Given the description of an element on the screen output the (x, y) to click on. 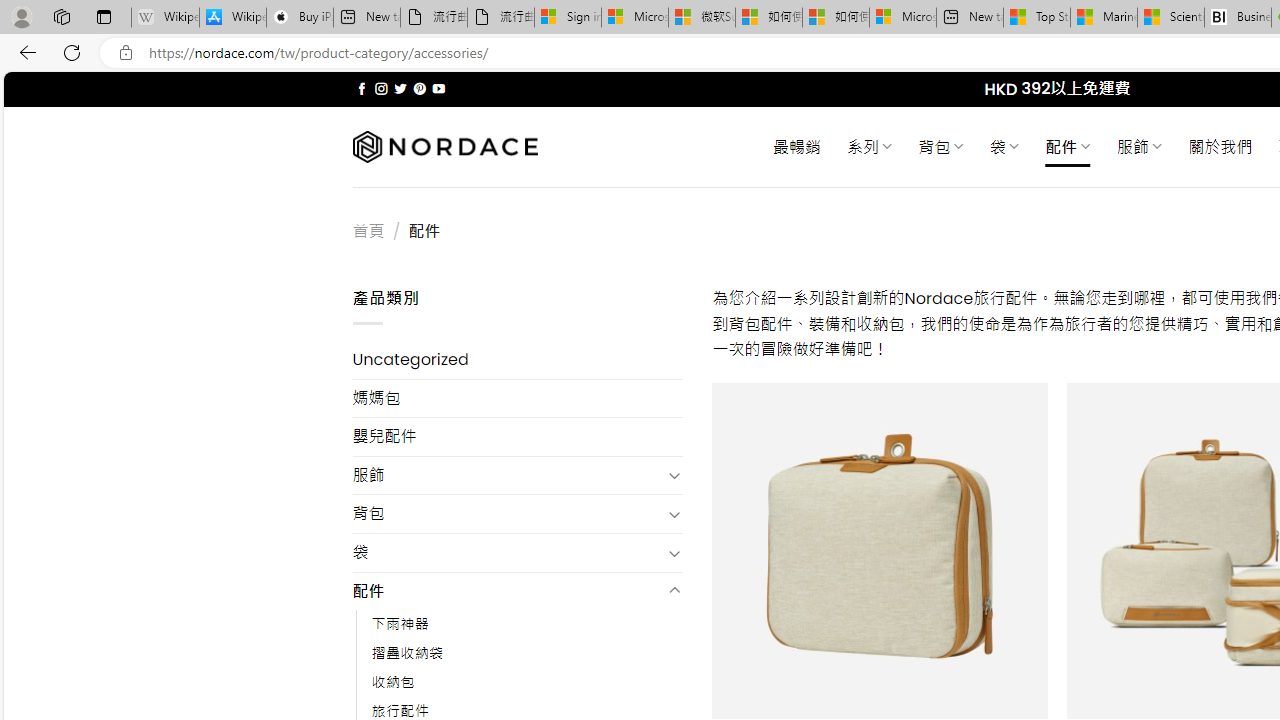
Buy iPad - Apple (299, 17)
